Given the description of an element on the screen output the (x, y) to click on. 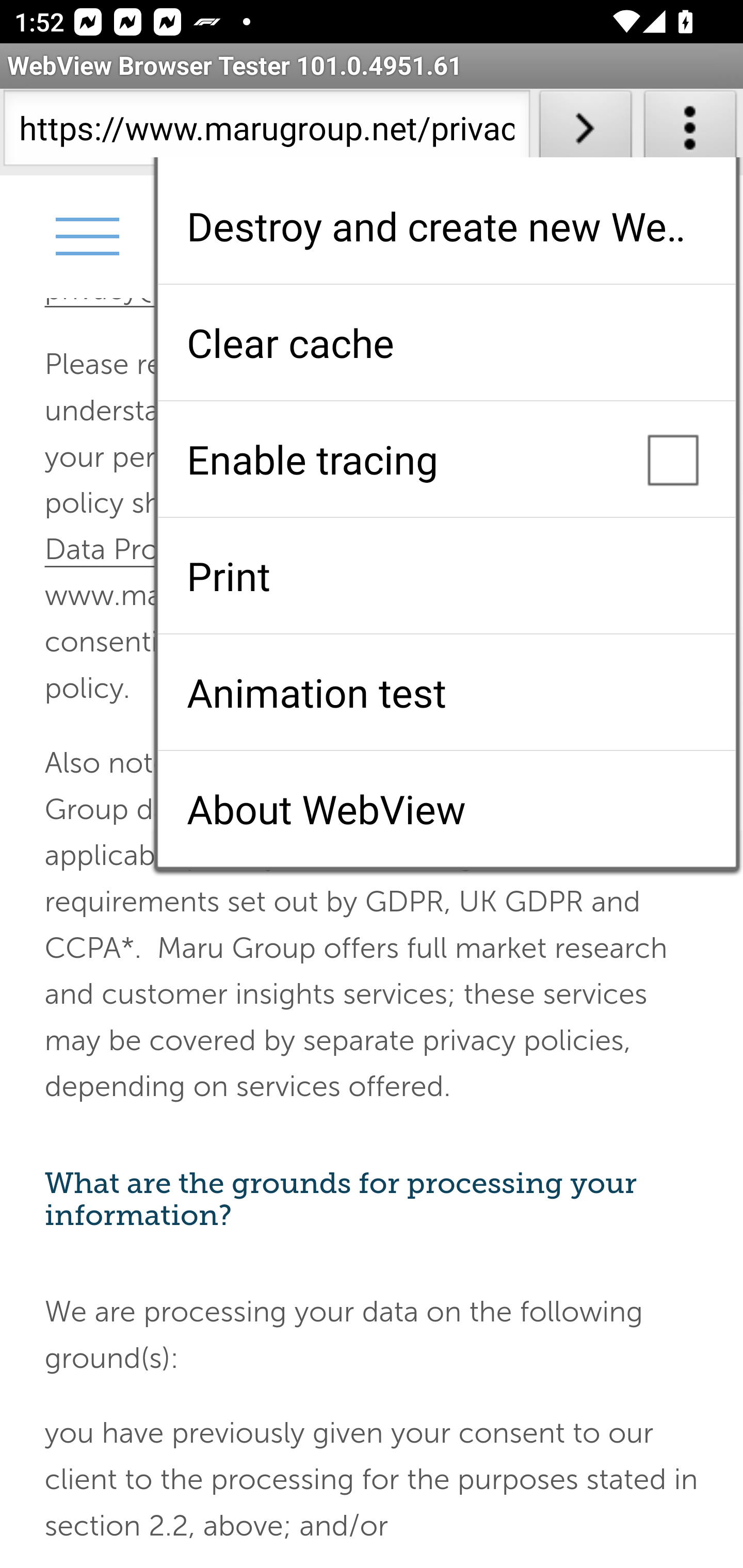
Destroy and create new WebView (446, 225)
Clear cache (446, 342)
Enable tracing (446, 459)
Print (446, 575)
Animation test (446, 692)
About WebView (446, 809)
